Given the description of an element on the screen output the (x, y) to click on. 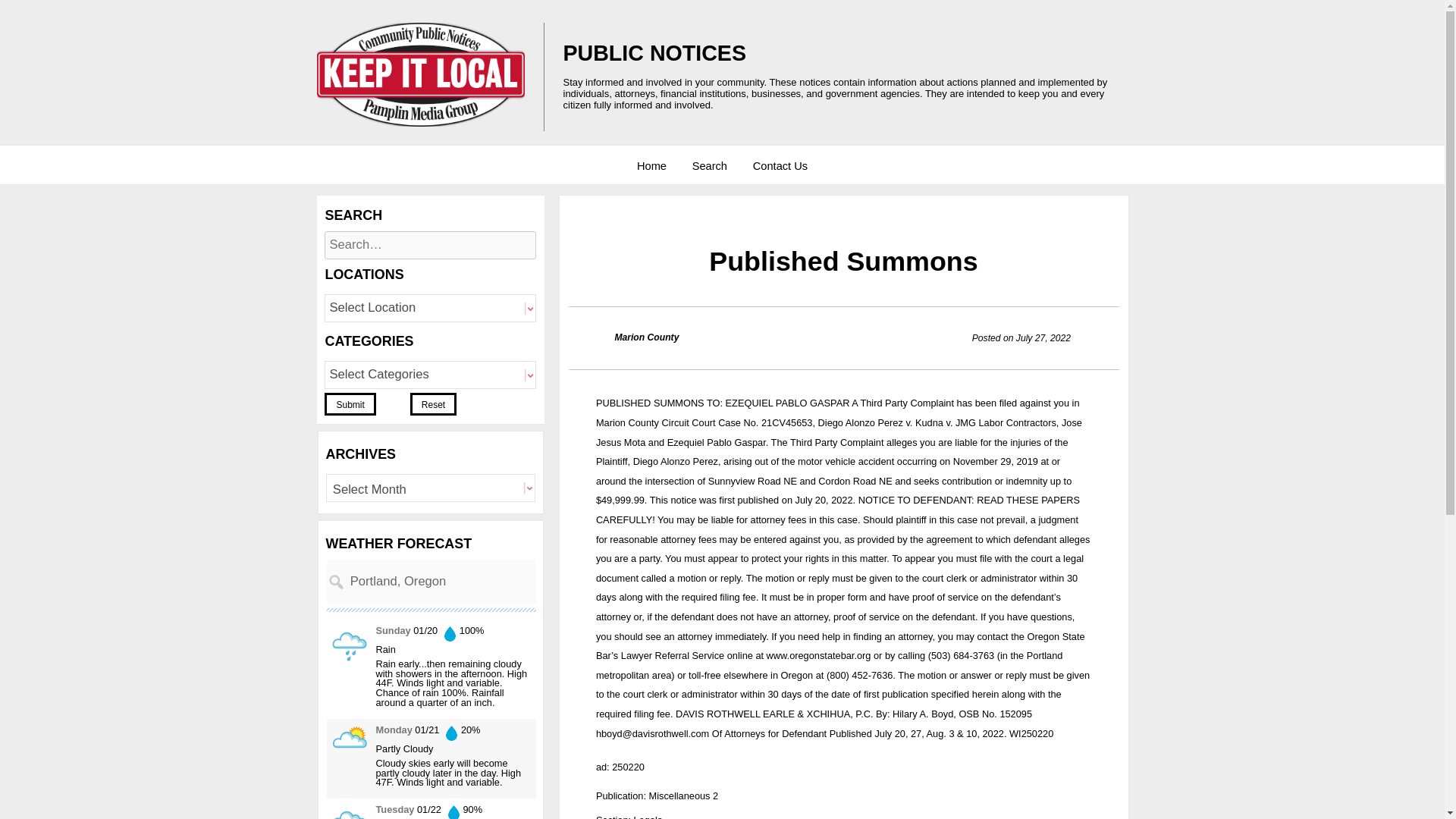
PUBLIC NOTICES (653, 52)
Contact Us (779, 166)
Reset (433, 404)
Submit (349, 404)
Home (651, 166)
Search (709, 166)
Portland, Oregon (478, 581)
